Given the description of an element on the screen output the (x, y) to click on. 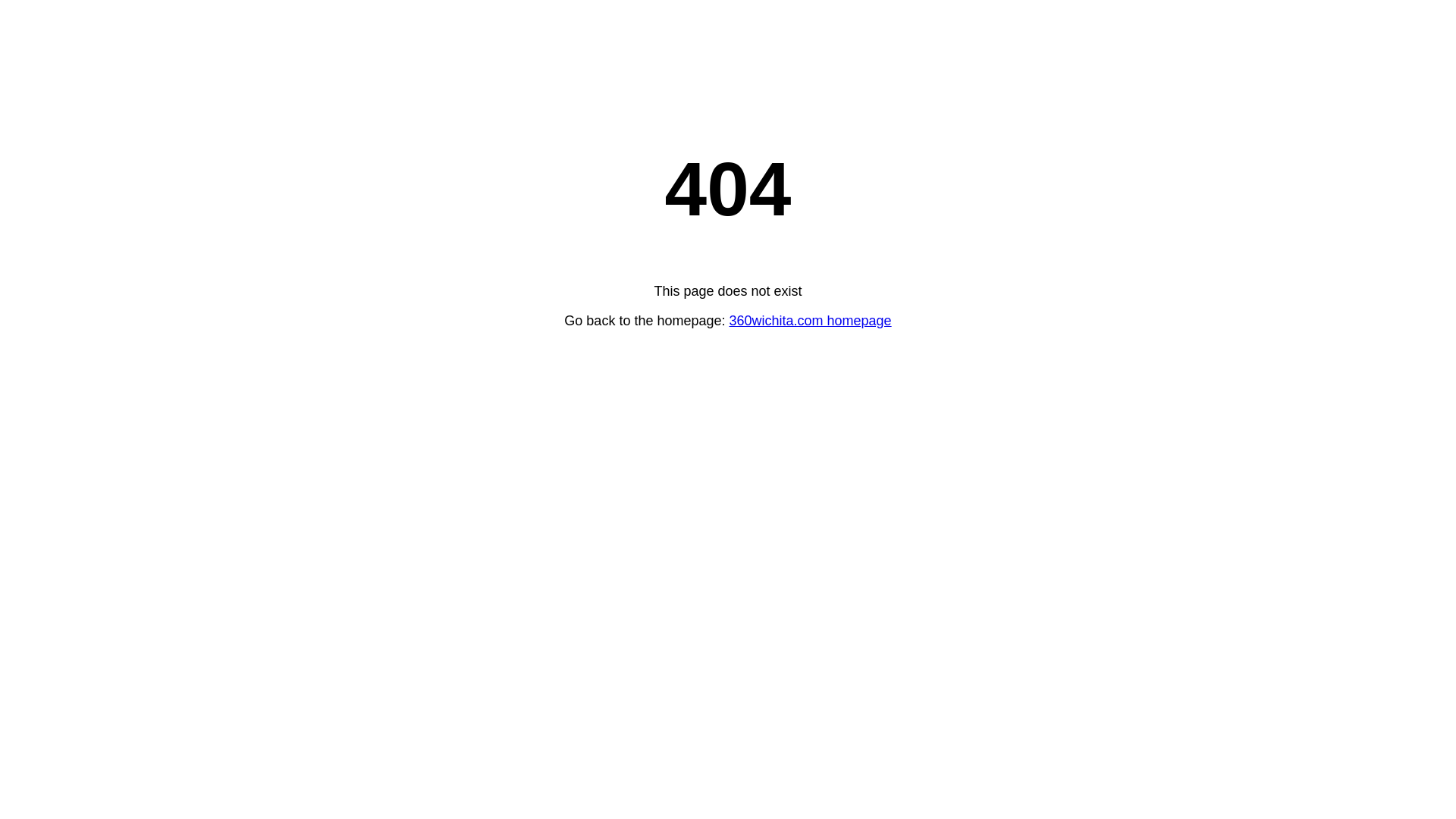
360wichita.com homepage Element type: text (810, 320)
